Given the description of an element on the screen output the (x, y) to click on. 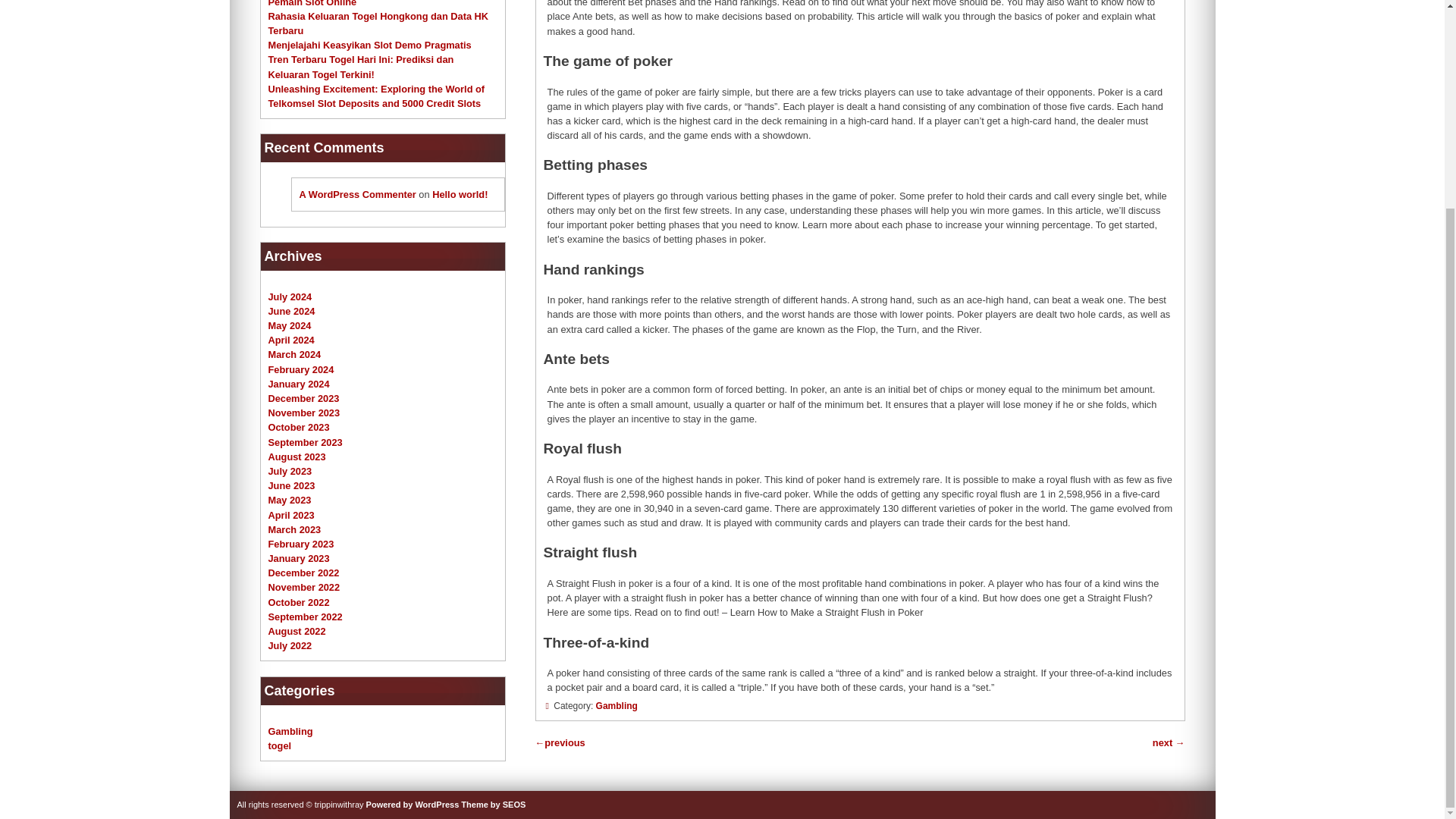
Seos free wordpress themes (493, 804)
January 2023 (298, 558)
September 2022 (304, 616)
February 2024 (300, 369)
May 2023 (289, 500)
February 2023 (300, 543)
November 2023 (303, 412)
March 2024 (294, 354)
Hello world! (459, 194)
June 2024 (291, 310)
September 2023 (304, 441)
October 2022 (298, 602)
August 2023 (296, 456)
April 2024 (290, 339)
